Given the description of an element on the screen output the (x, y) to click on. 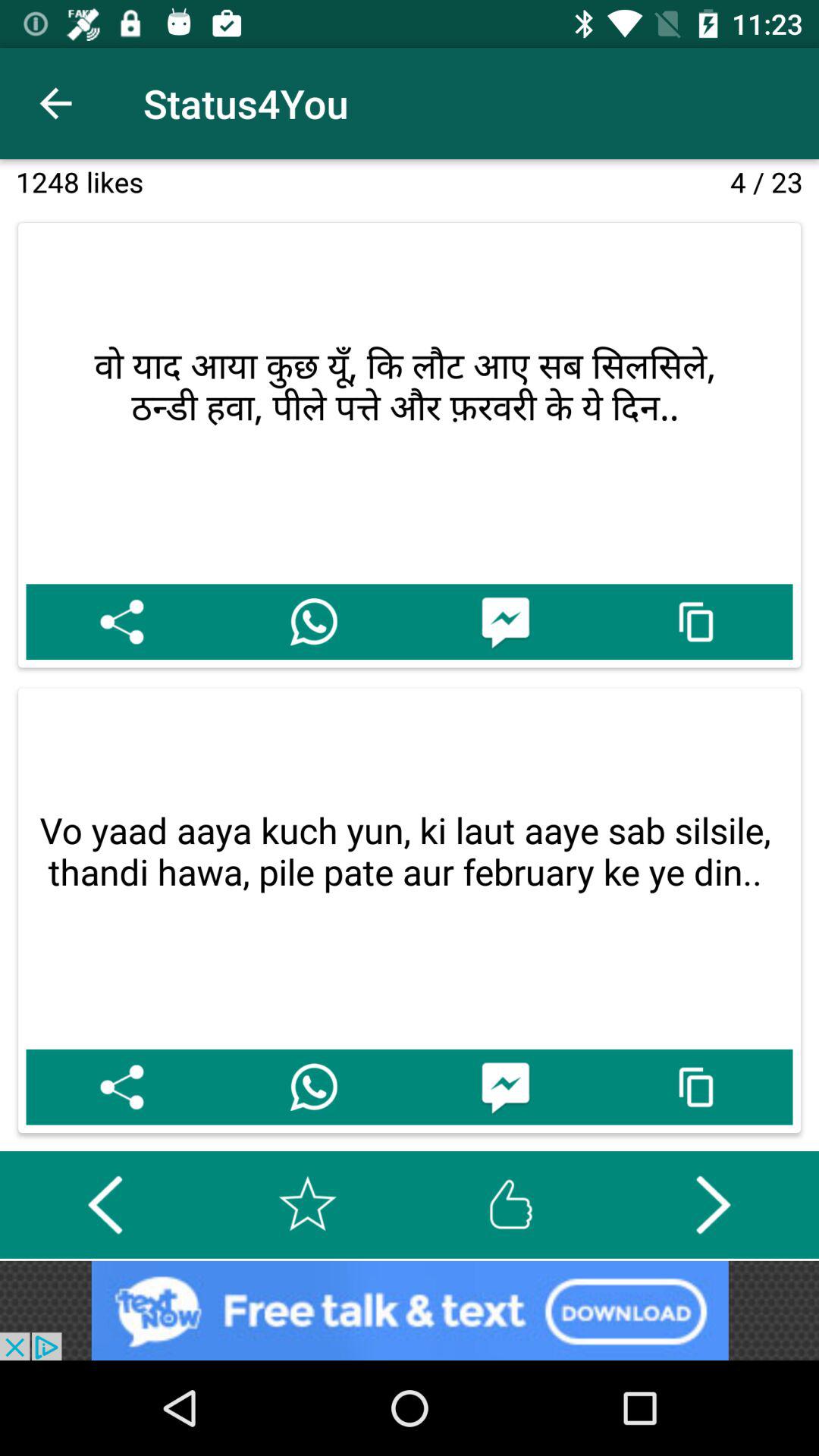
go to contacts (313, 1086)
